Given the description of an element on the screen output the (x, y) to click on. 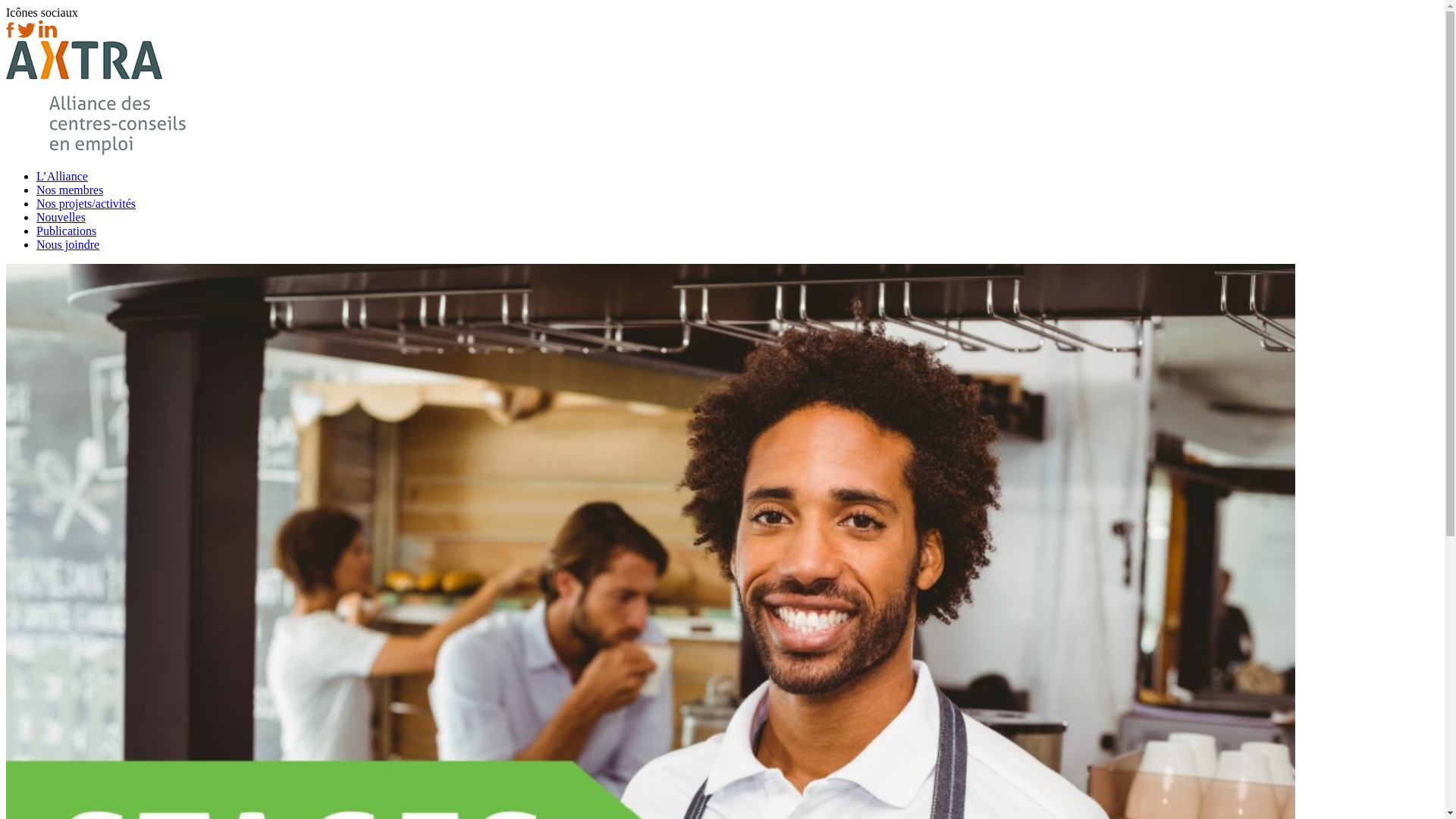
Twitter Element type: hover (26, 33)
Nos membres Element type: text (69, 189)
Publications Element type: text (66, 230)
LinkedIn Element type: hover (47, 33)
Facebook Element type: hover (10, 33)
Nouvelles Element type: text (60, 216)
Nous joindre Element type: text (67, 244)
